Given the description of an element on the screen output the (x, y) to click on. 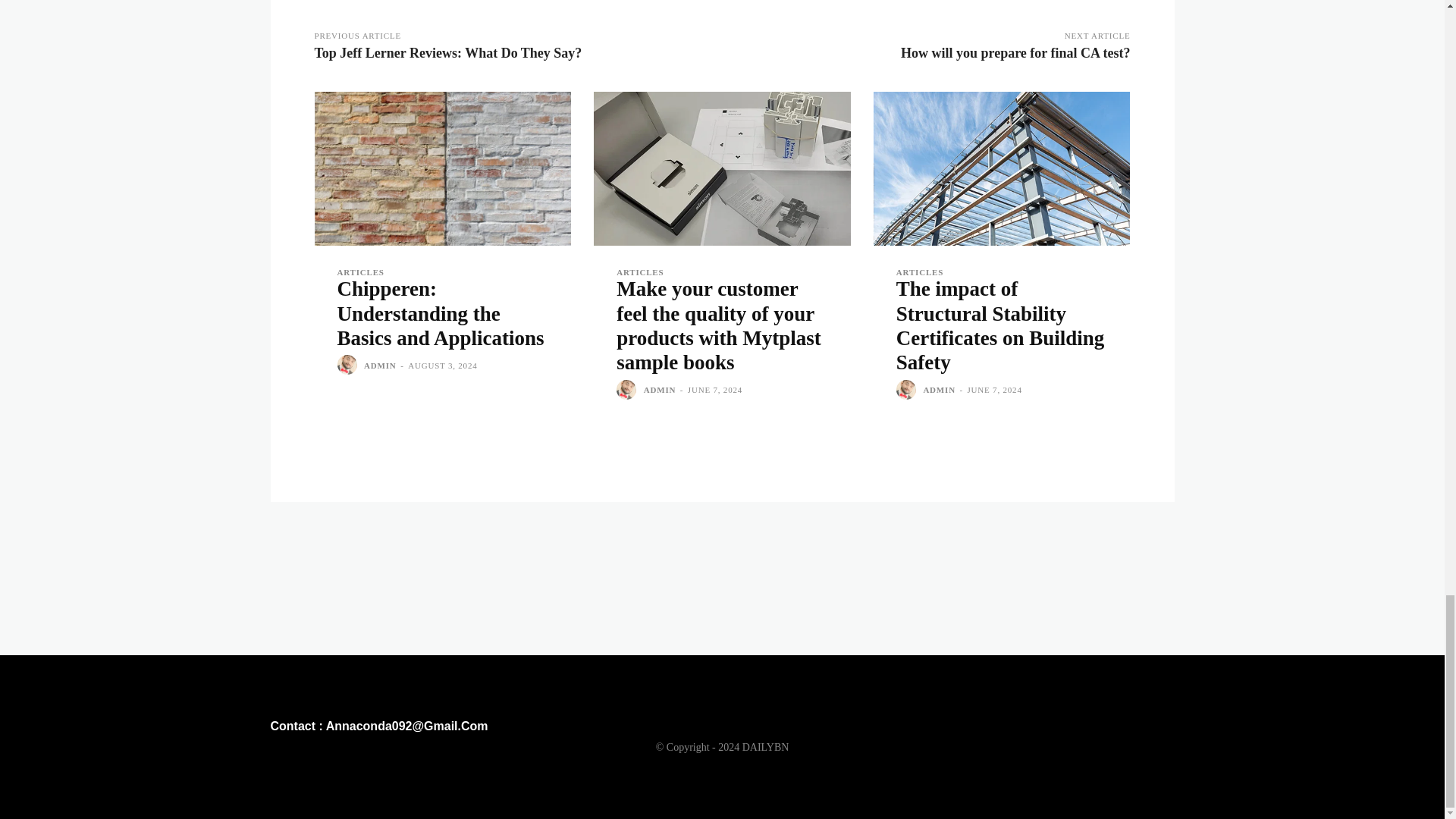
Chipperen: Understanding the Basics and Applications (442, 168)
Chipperen: Understanding the Basics and Applications (439, 313)
